Given the description of an element on the screen output the (x, y) to click on. 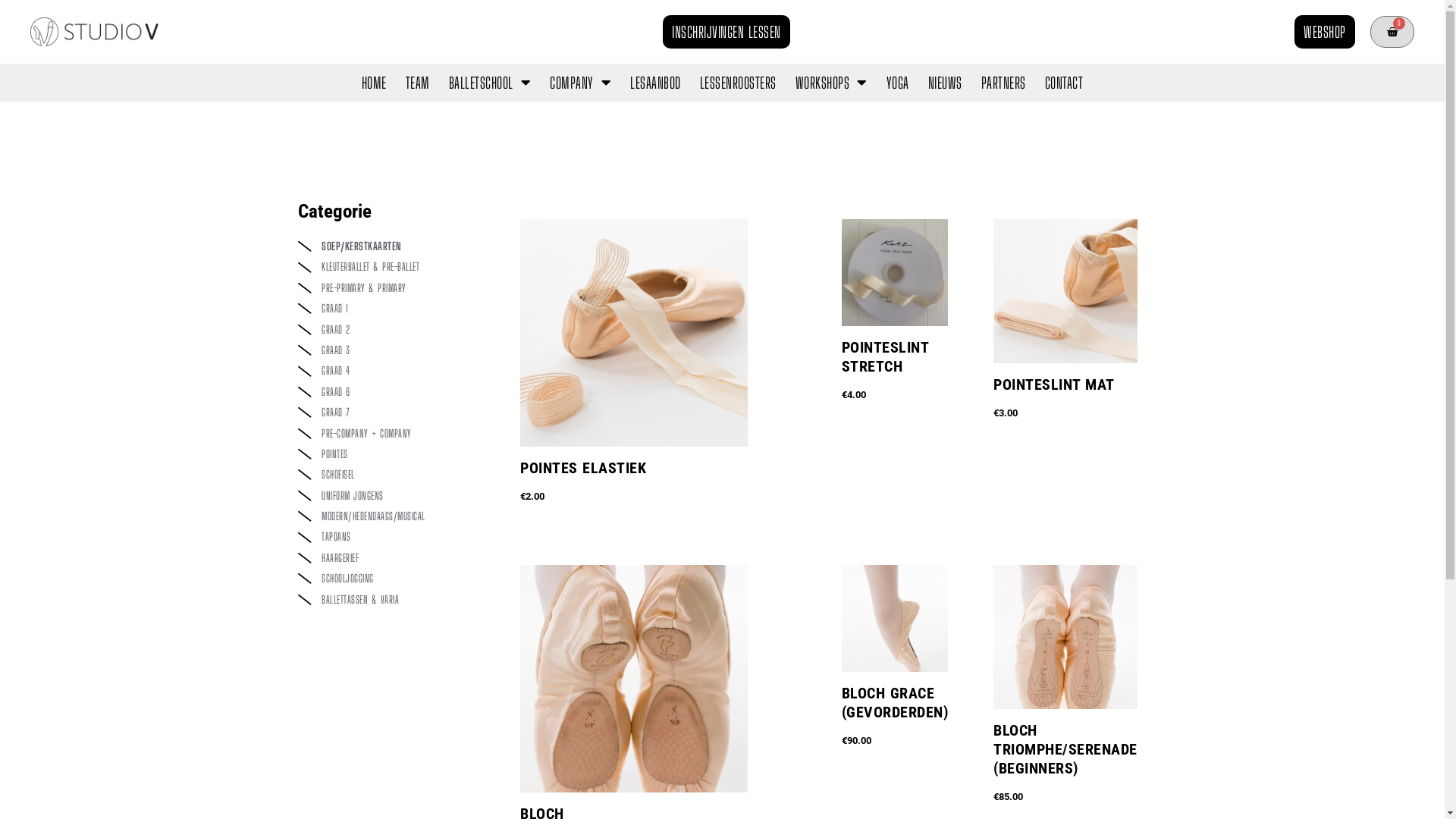
WORKSHOPS Element type: text (831, 82)
LESSENROOSTERS Element type: text (738, 82)
0
CART Element type: text (1391, 31)
MODERN/HEDENDAAGS/MUSICAL Element type: text (393, 516)
BALLETTASSEN & VARIA Element type: text (393, 599)
NIEUWS Element type: text (944, 82)
CONTACT Element type: text (1064, 82)
SOEP/KERSTKAARTEN Element type: text (393, 246)
INSCHRIJVINGEN LESSEN Element type: text (726, 31)
UNIFORM JONGENS Element type: text (393, 495)
BALLETSCHOOL Element type: text (490, 82)
WEBSHOP Element type: text (1324, 31)
POINTES ELASTIEK Element type: text (658, 480)
YOGA Element type: text (897, 82)
BLOCH GRACE (GEVORDERDEN) Element type: text (894, 715)
SCHOEISEL Element type: text (393, 474)
BLOCH TRIOMPHE/SERENADE (BEGINNERS) Element type: text (1065, 762)
KLEUTERBALLET & PRE-BALLET Element type: text (393, 266)
LESAANBOD Element type: text (655, 82)
HAARGERIEF Element type: text (393, 557)
PRE-PRIMARY & PRIMARY Element type: text (393, 287)
POINTES Element type: text (393, 453)
GRAAD 6 Element type: text (393, 391)
GRAAD 4 Element type: text (393, 370)
GRAAD 3 Element type: text (393, 350)
PRE-COMPANY + COMPANY Element type: text (393, 433)
GRAAD 7 Element type: text (393, 412)
GRAAD 2 Element type: text (393, 329)
TAPDANS Element type: text (393, 536)
GRAAD 1 Element type: text (393, 308)
SCHOOLJOGGING Element type: text (393, 578)
PARTNERS Element type: text (1003, 82)
POINTESLINT MAT Element type: text (1065, 396)
POINTESLINT STRETCH Element type: text (894, 369)
HOME Element type: text (374, 82)
COMPANY Element type: text (580, 82)
TEAM Element type: text (417, 82)
